Given the description of an element on the screen output the (x, y) to click on. 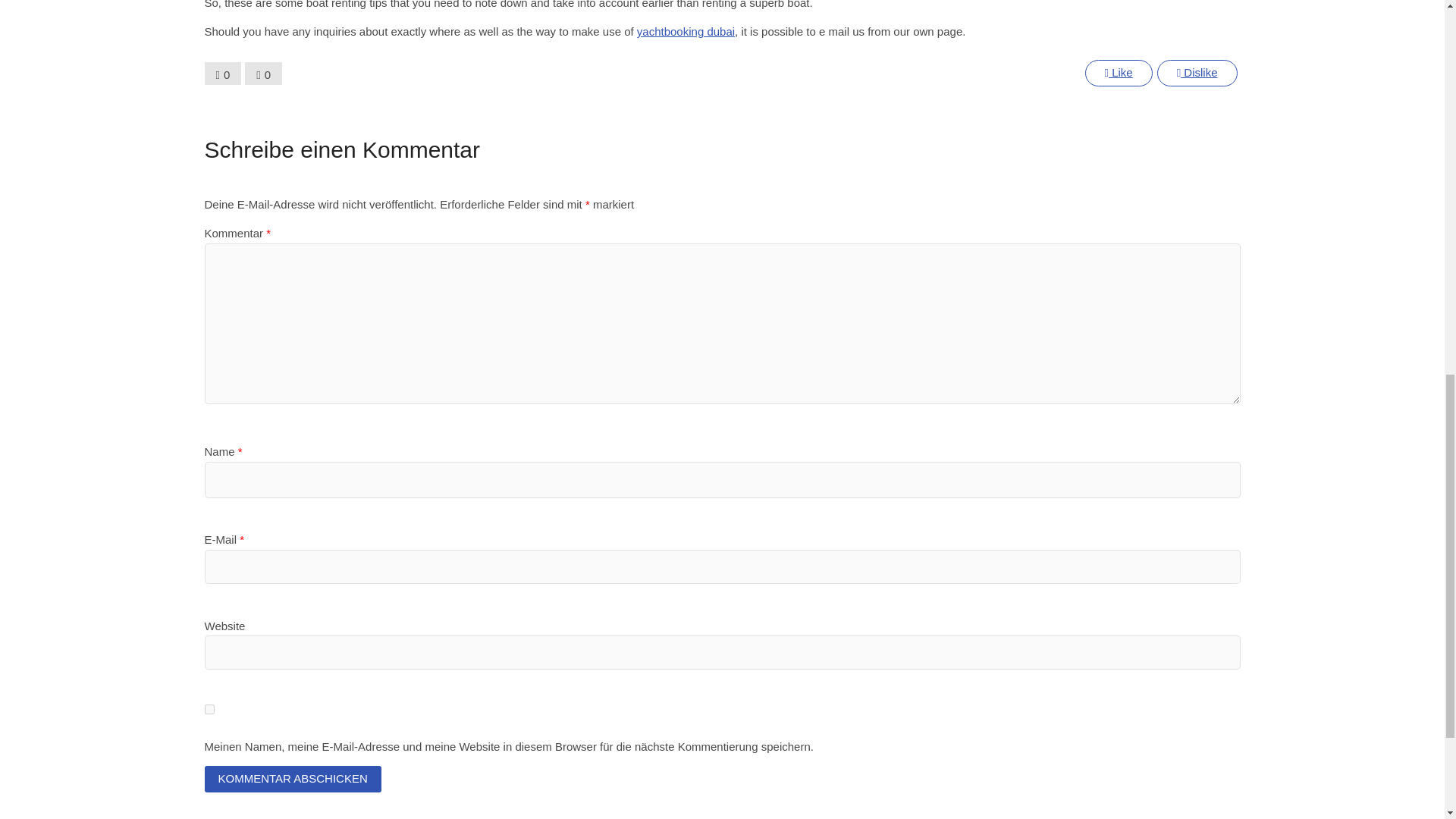
Like (1117, 72)
Dislike (1197, 72)
yachtbooking dubai (686, 31)
Kommentar abschicken (293, 778)
yes (209, 709)
Kommentar abschicken (293, 778)
